Given the description of an element on the screen output the (x, y) to click on. 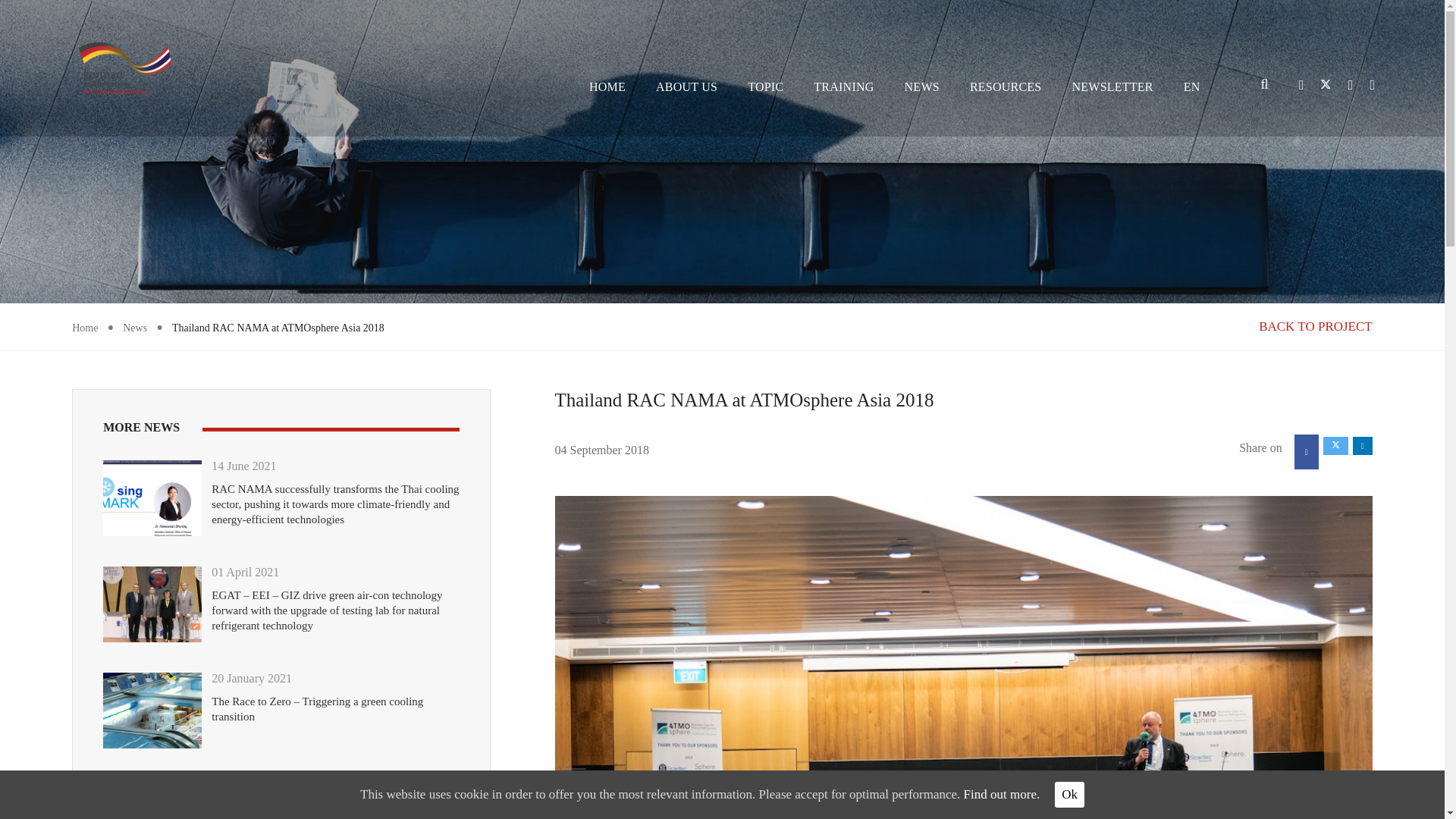
BACK TO PROJECT (1316, 326)
Share on Twitter (1335, 445)
Share on Linkedin (1362, 445)
Home (84, 327)
Browse to: Home (84, 327)
TRAINING (843, 86)
RESOURCES (1005, 86)
Browse to:News (134, 327)
News (134, 327)
YouTube (1367, 84)
Facebook (1350, 84)
NEWSLETTER (1112, 86)
ABOUT US (686, 86)
Thai-German Cooperation (125, 66)
